Given the description of an element on the screen output the (x, y) to click on. 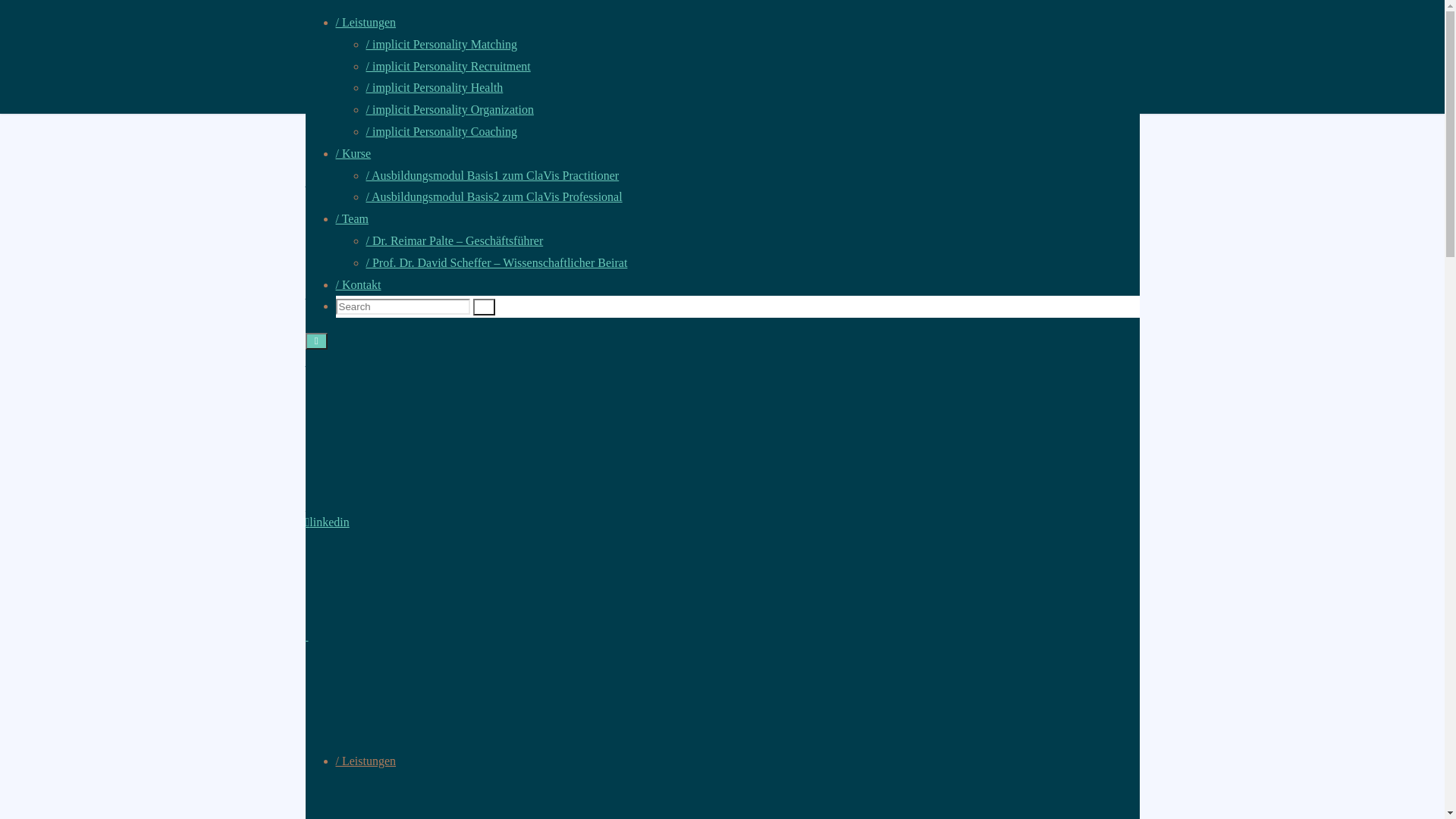
/ Ausbildungsmodul Basis2 zum ClaVis Professional Element type: text (493, 196)
Skip to content Element type: text (5, 112)
  Element type: text (305, 635)
/ Kurse Element type: text (352, 153)
/ Leistungen Element type: text (365, 21)
/ Ausbildungsmodul Basis1 zum ClaVis Practitioner Element type: text (491, 175)
/ Leistungen Element type: text (365, 760)
/ implicit Personality Organization Element type: text (449, 109)
/ implicit Personality Health Element type: text (433, 87)
Search Element type: text (484, 306)
/ implicit Personality Coaching Element type: text (441, 131)
linkedin Element type: text (326, 521)
/ Kontakt Element type: text (357, 284)
/ implicit Personality Matching Element type: text (441, 43)
/ Team Element type: text (351, 218)
/ implicit Personality Recruitment Element type: text (447, 65)
/ implicit Personality Health Element type: hover (379, 648)
